Given the description of an element on the screen output the (x, y) to click on. 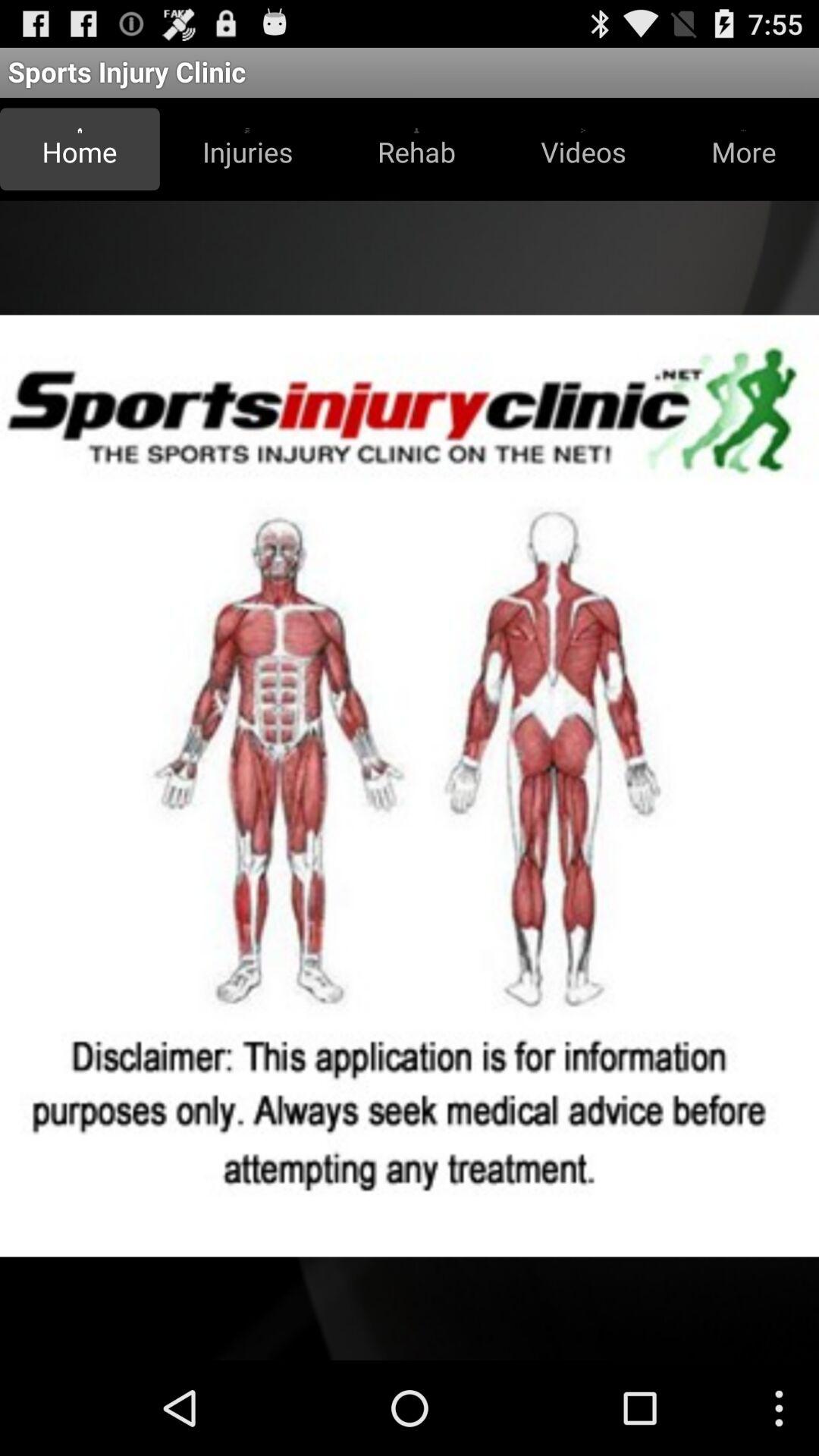
choose the item to the left of the more item (583, 149)
